Given the description of an element on the screen output the (x, y) to click on. 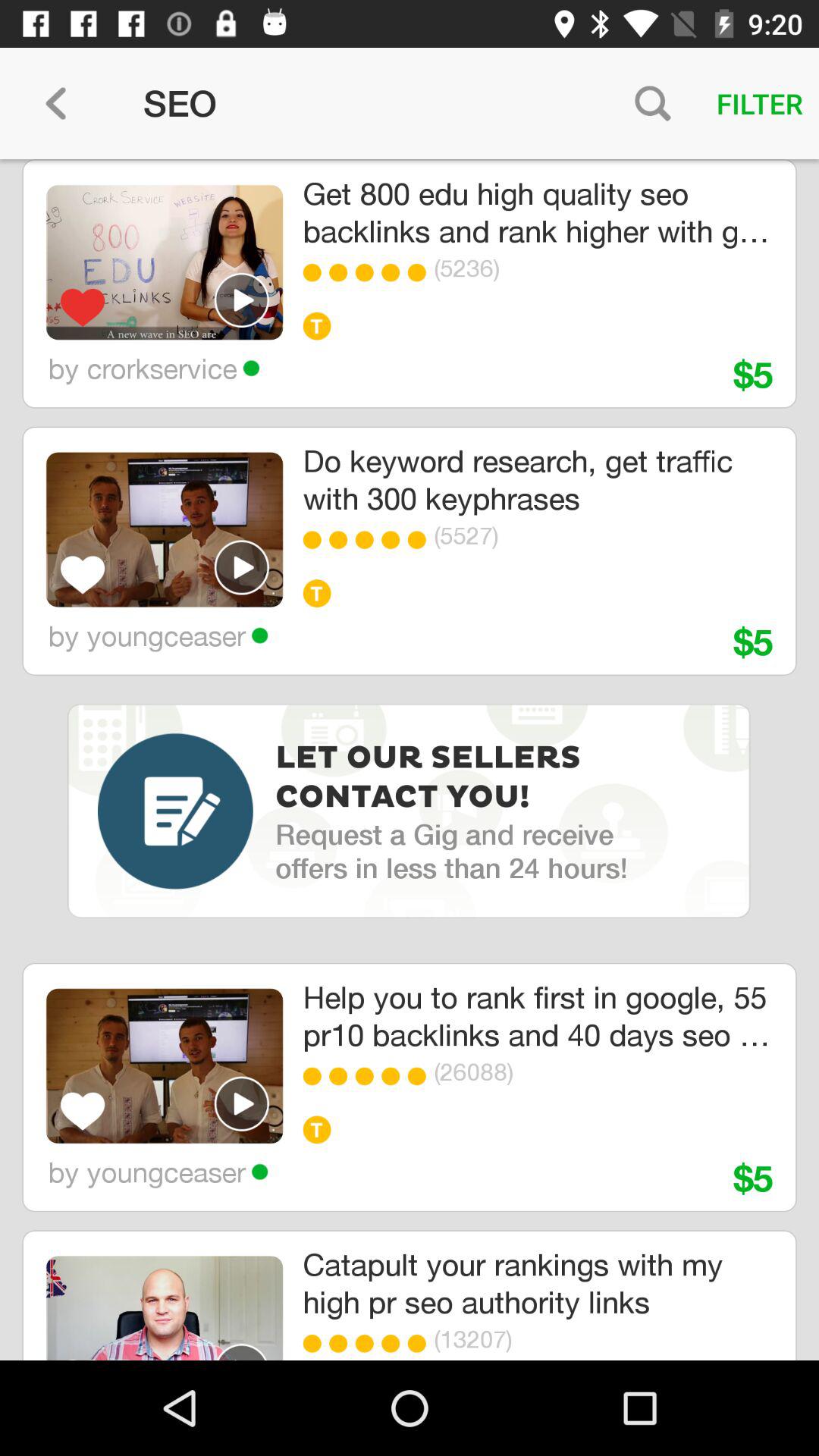
seo play select video (242, 1103)
